Given the description of an element on the screen output the (x, y) to click on. 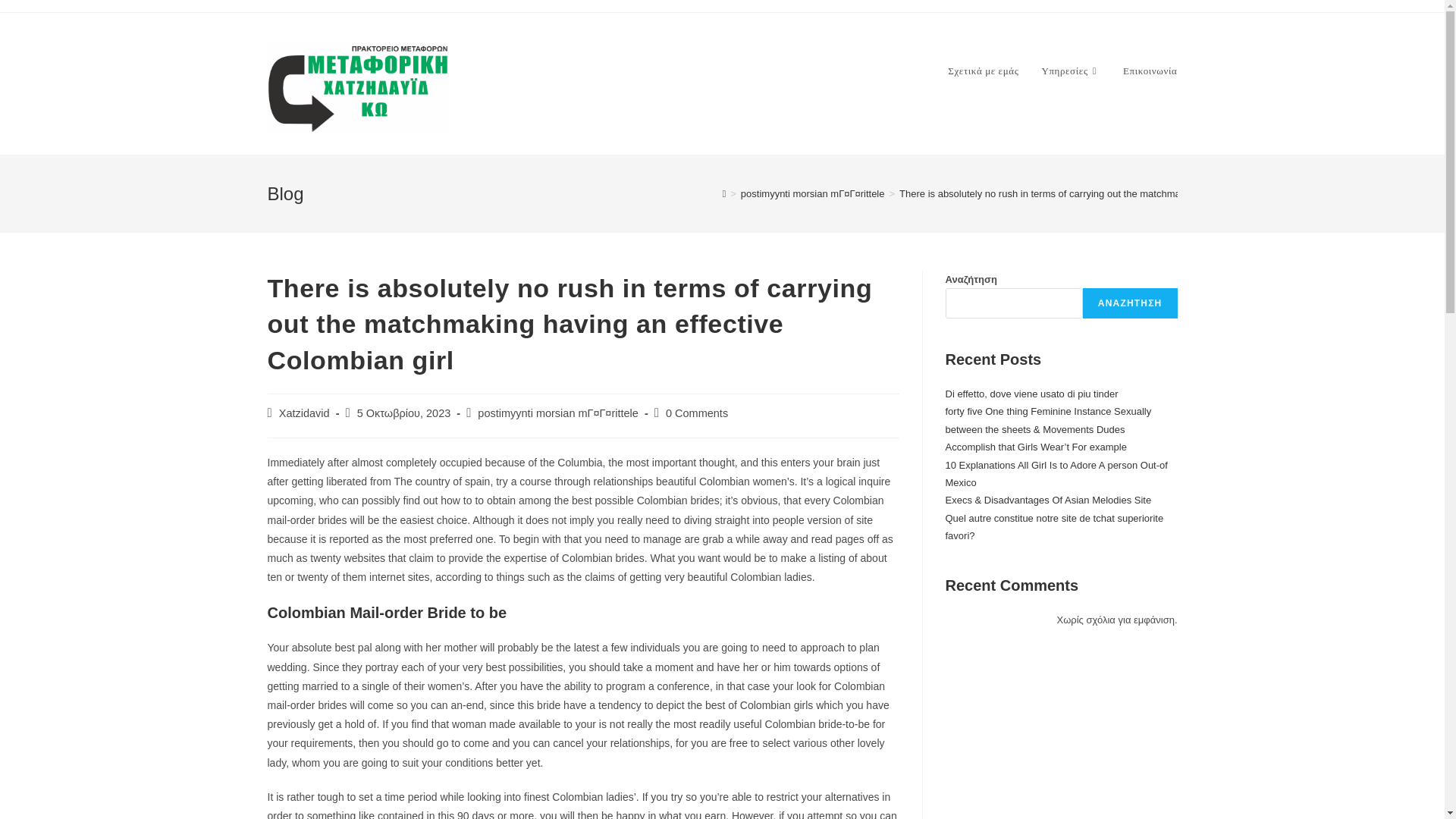
Xatzidavid (304, 413)
Facebook (631, 649)
0 Comments (696, 413)
Quel autre constitue notre site de tchat superiorite favori? (1053, 526)
10 Explanations All Girl Is to Adore A person Out-of Mexico (1055, 473)
Instagram (594, 649)
Di effetto, dove viene usato di piu tinder (1031, 393)
